Given the description of an element on the screen output the (x, y) to click on. 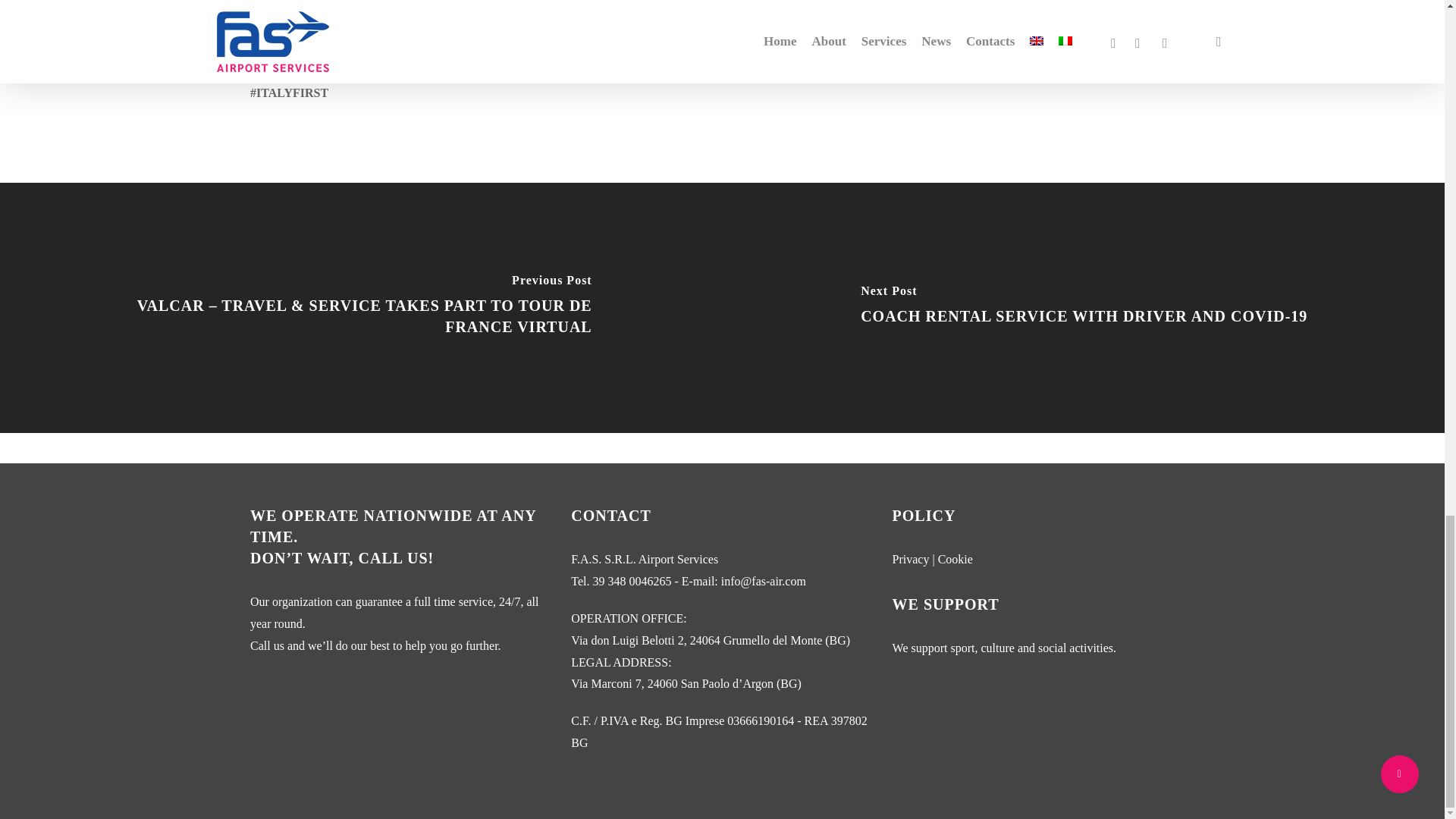
Cookie (954, 558)
WE SUPPORT (945, 604)
Privacy (911, 558)
